Given the description of an element on the screen output the (x, y) to click on. 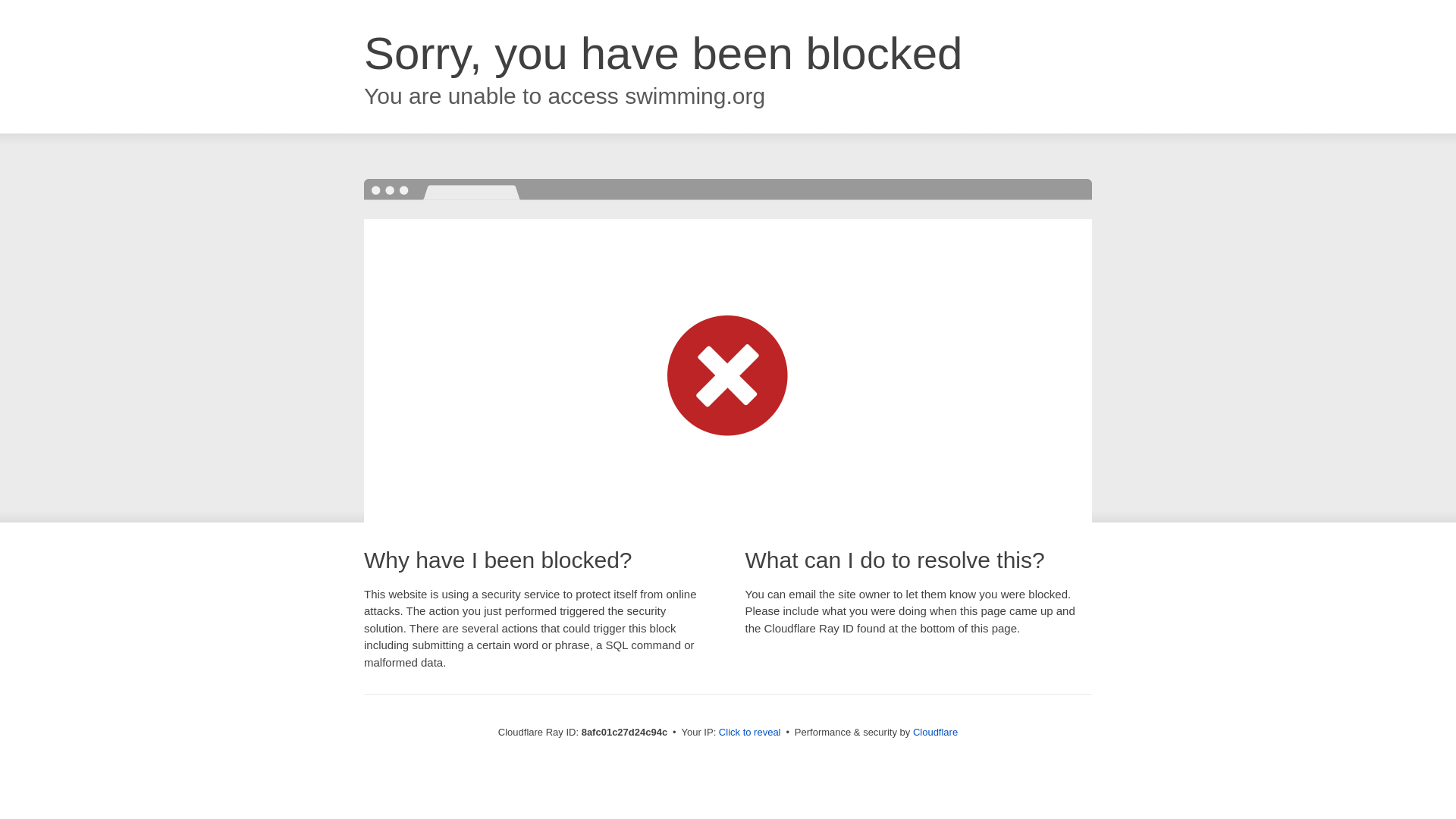
Cloudflare (935, 731)
Click to reveal (749, 732)
